Given the description of an element on the screen output the (x, y) to click on. 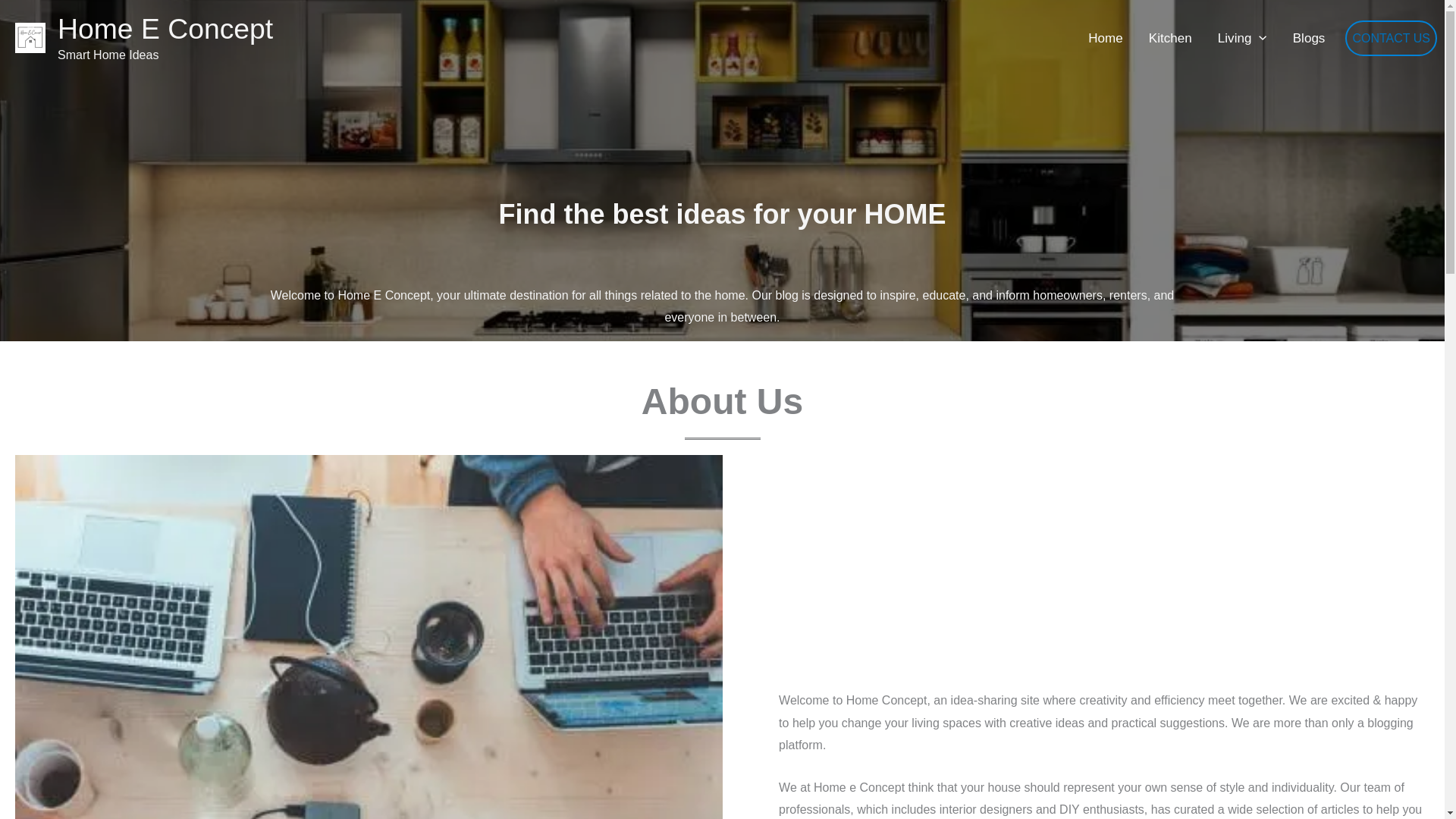
Blogs (1308, 37)
CONTACT US (1390, 38)
Home (1105, 37)
Home E Concept (165, 29)
Kitchen (1170, 37)
Living (1242, 37)
